Given the description of an element on the screen output the (x, y) to click on. 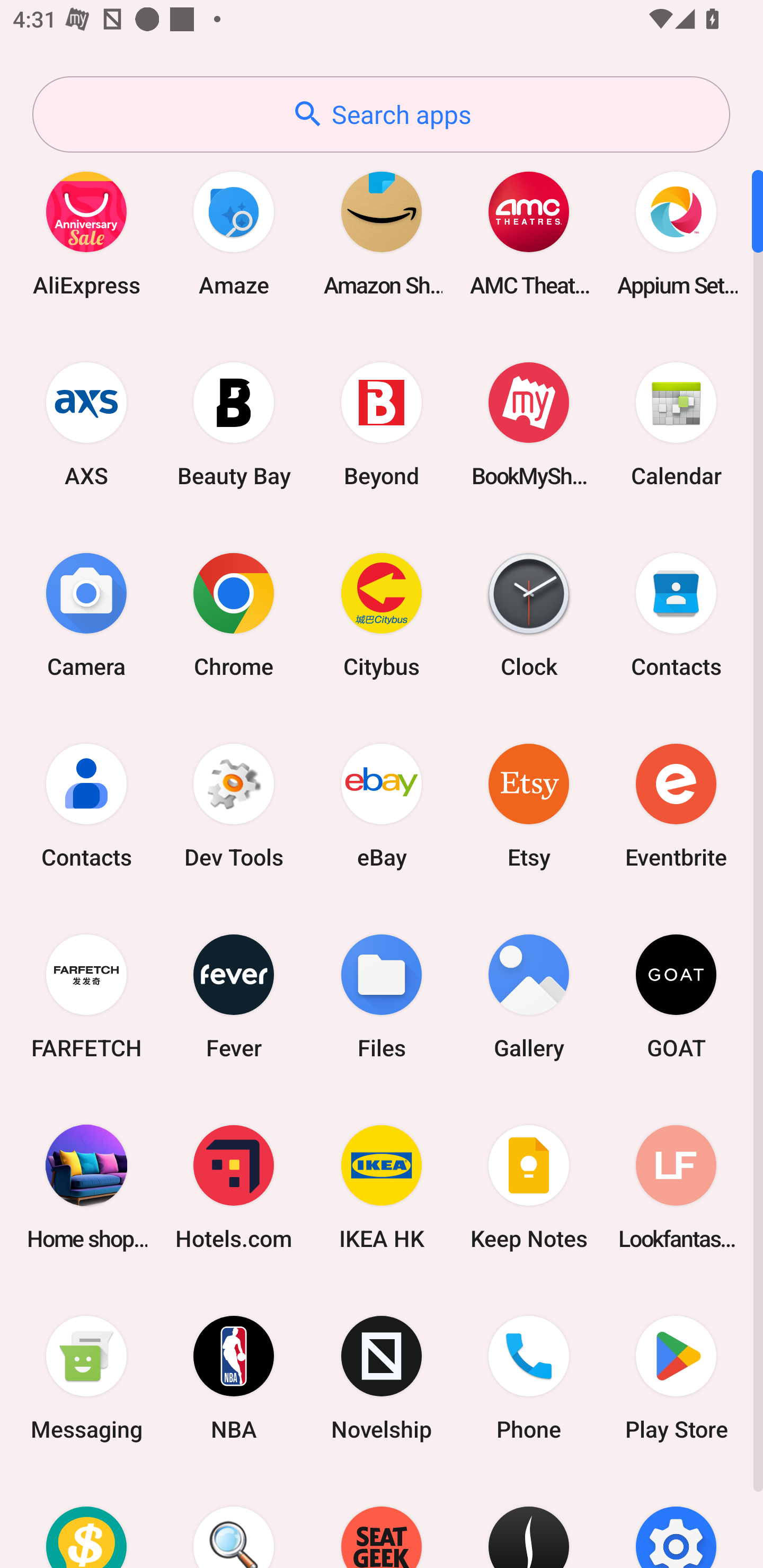
  Search apps (381, 114)
AliExpress (86, 233)
Amaze (233, 233)
Amazon Shopping (381, 233)
AMC Theatres (528, 233)
Appium Settings (676, 233)
AXS (86, 424)
Beauty Bay (233, 424)
Beyond (381, 424)
BookMyShow (528, 424)
Calendar (676, 424)
Camera (86, 614)
Chrome (233, 614)
Citybus (381, 614)
Clock (528, 614)
Contacts (676, 614)
Contacts (86, 805)
Dev Tools (233, 805)
eBay (381, 805)
Etsy (528, 805)
Eventbrite (676, 805)
FARFETCH (86, 996)
Fever (233, 996)
Files (381, 996)
Gallery (528, 996)
GOAT (676, 996)
Home shopping (86, 1186)
Hotels.com (233, 1186)
IKEA HK (381, 1186)
Keep Notes (528, 1186)
Lookfantastic (676, 1186)
Messaging (86, 1377)
NBA (233, 1377)
Novelship (381, 1377)
Phone (528, 1377)
Play Store (676, 1377)
Price (86, 1520)
Search (233, 1520)
SeatGeek (381, 1520)
Sephora (528, 1520)
Settings (676, 1520)
